Given the description of an element on the screen output the (x, y) to click on. 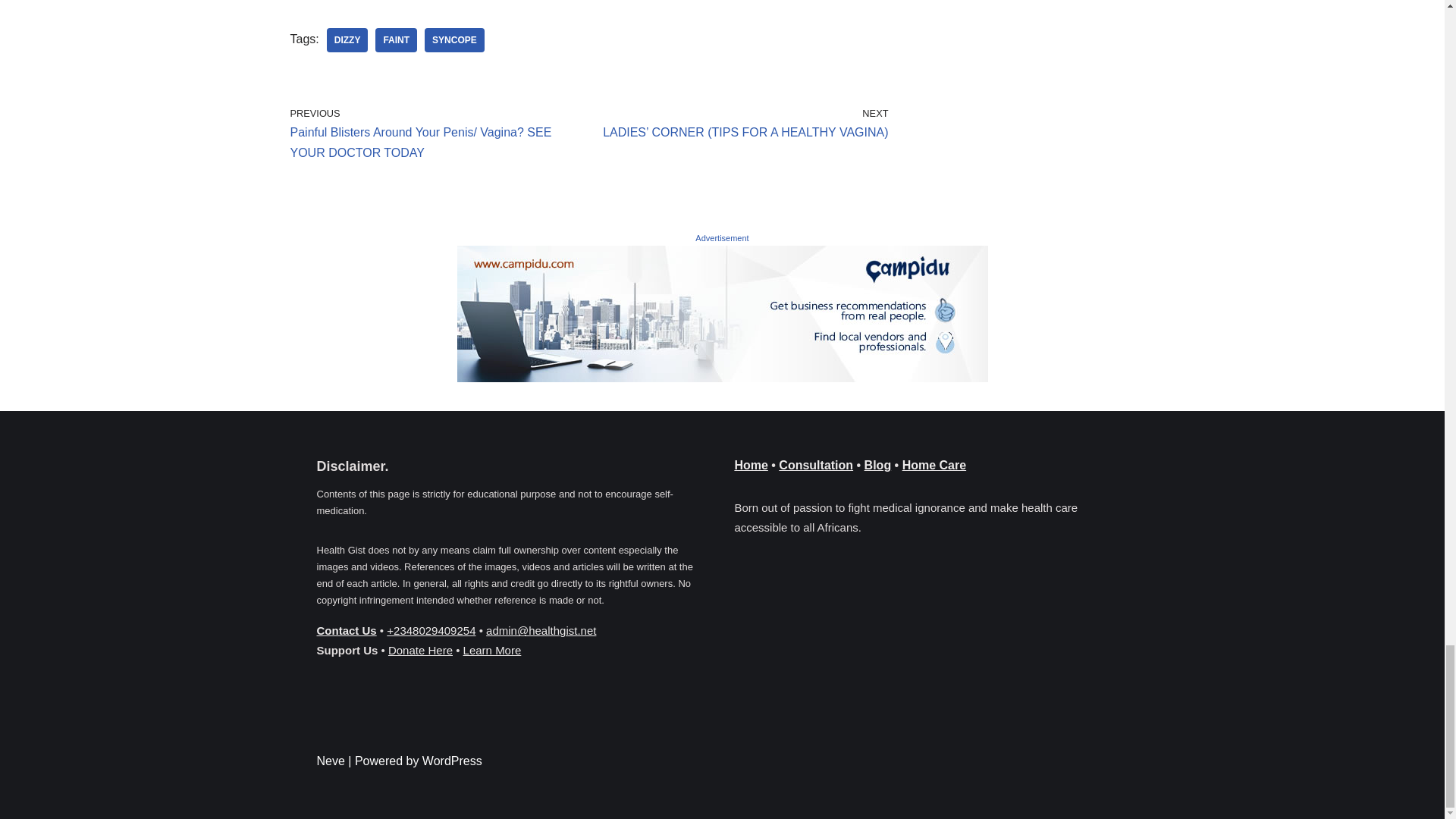
syncope (454, 39)
dizzy (347, 39)
faint (395, 39)
